Given the description of an element on the screen output the (x, y) to click on. 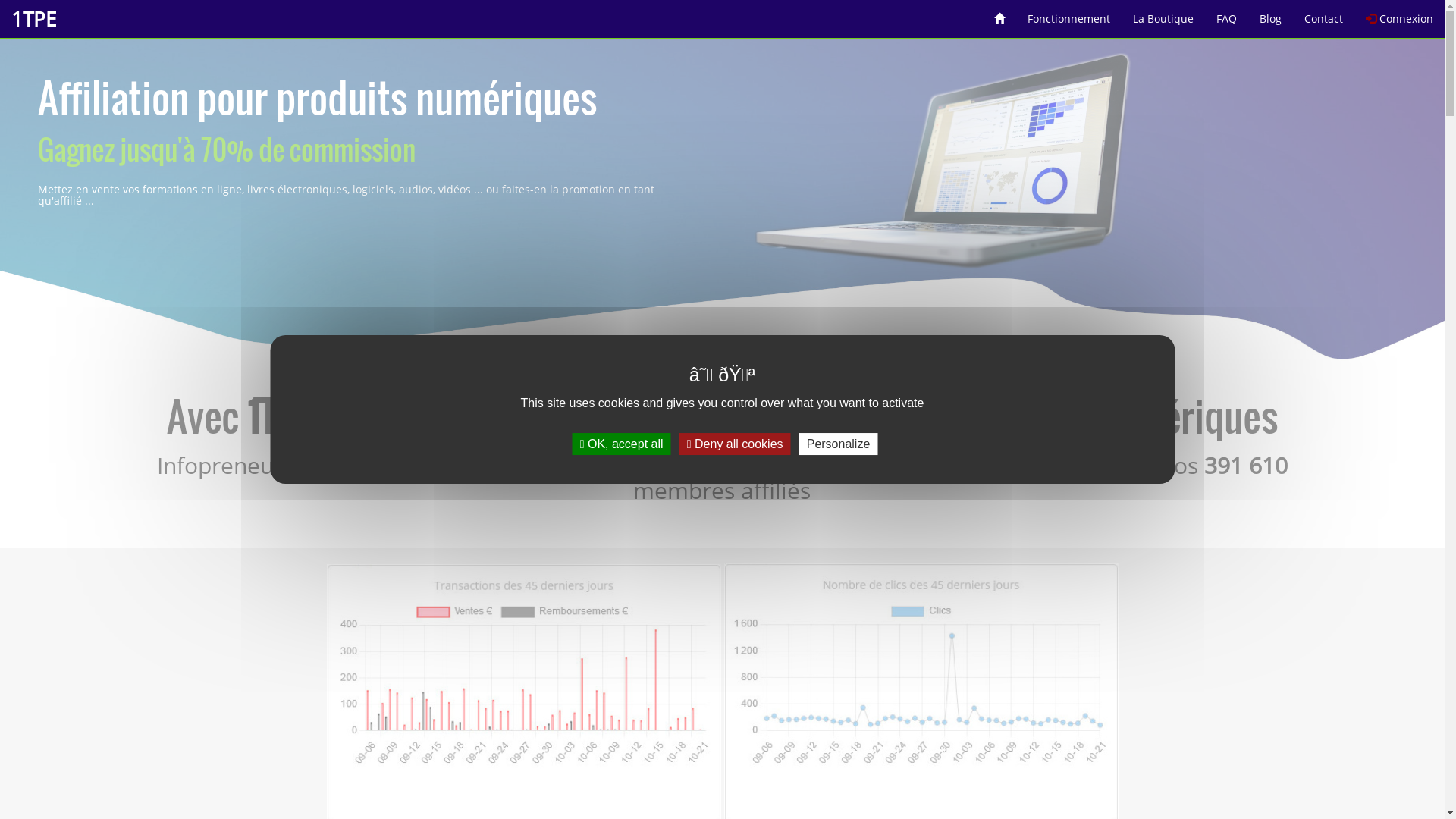
Contact Element type: text (1323, 13)
1TPE Element type: text (33, 18)
Deny all cookies Element type: text (734, 444)
OK, accept all Element type: text (621, 444)
Connexion Element type: text (1399, 13)
La Boutique Element type: text (1162, 13)
Personalize Element type: text (838, 444)
Blog Element type: text (1270, 13)
FAQ Element type: text (1226, 13)
Fonctionnement Element type: text (1068, 13)
